Given the description of an element on the screen output the (x, y) to click on. 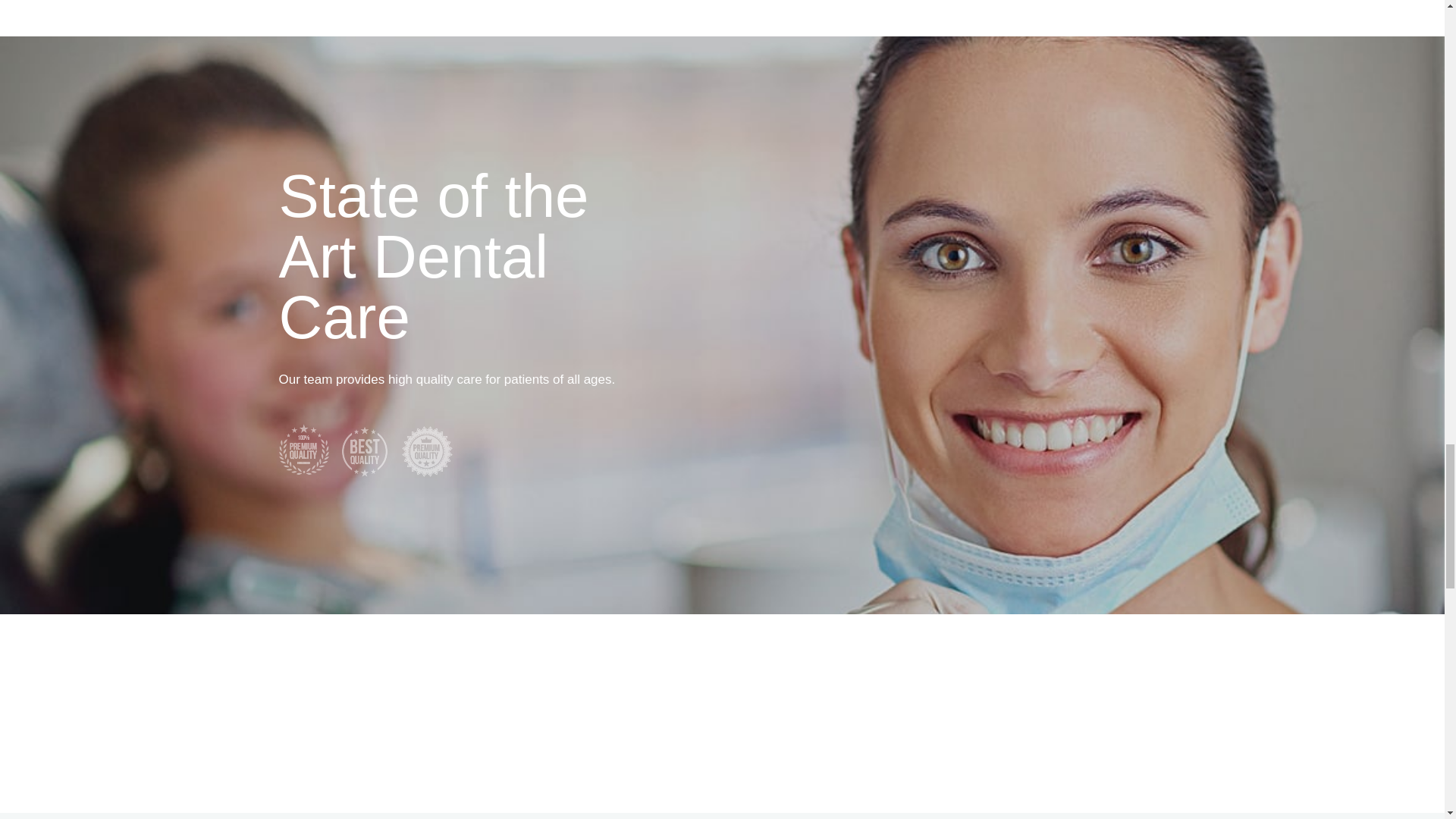
marker-2 (365, 450)
